Given the description of an element on the screen output the (x, y) to click on. 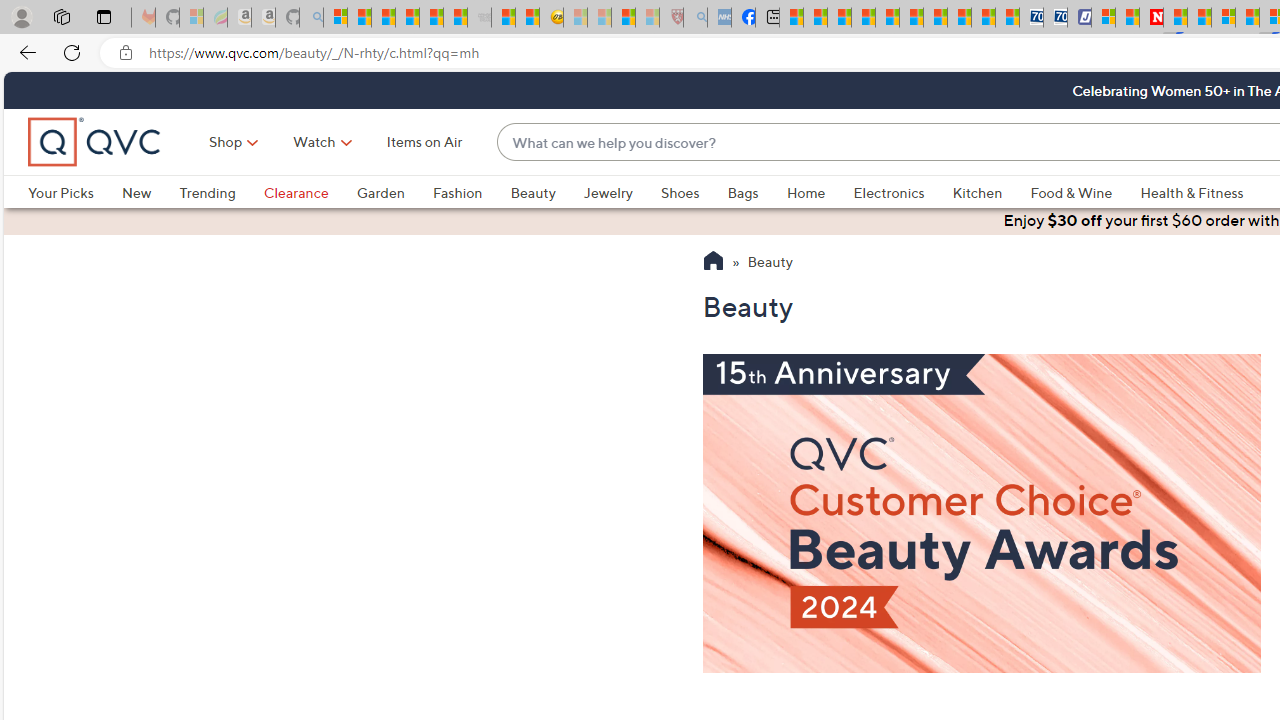
Kitchen (977, 192)
Electronics (888, 192)
Shoes (680, 192)
Shop (226, 141)
Health & Fitness (1197, 192)
Bags (757, 192)
Health & Fitness (1192, 192)
12 Popular Science Lies that Must be Corrected - Sleeping (647, 17)
